Given the description of an element on the screen output the (x, y) to click on. 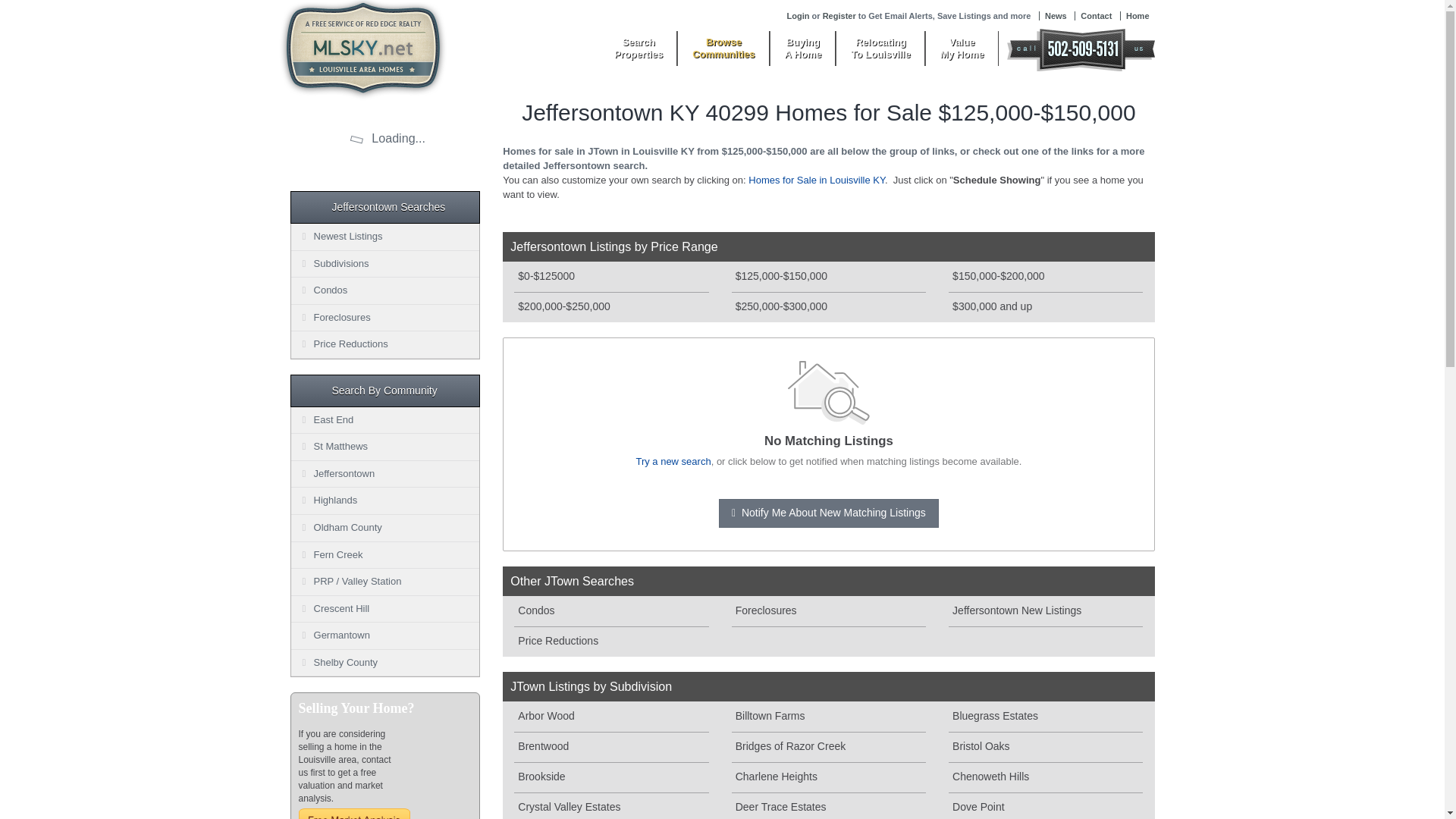
Homes for Sale in Louisville KY (816, 179)
View Charlene Heights (829, 777)
View Chenoweth Hills (1045, 777)
Contact (802, 48)
View Bridges of Razor Creek (879, 48)
View Foreclosures (1096, 15)
Register (829, 747)
View Bristol Oaks (829, 611)
View Price Reductions (839, 15)
View Condos (1045, 747)
View Brentwood (610, 641)
View Crystal Valley Estates (610, 611)
